Given the description of an element on the screen output the (x, y) to click on. 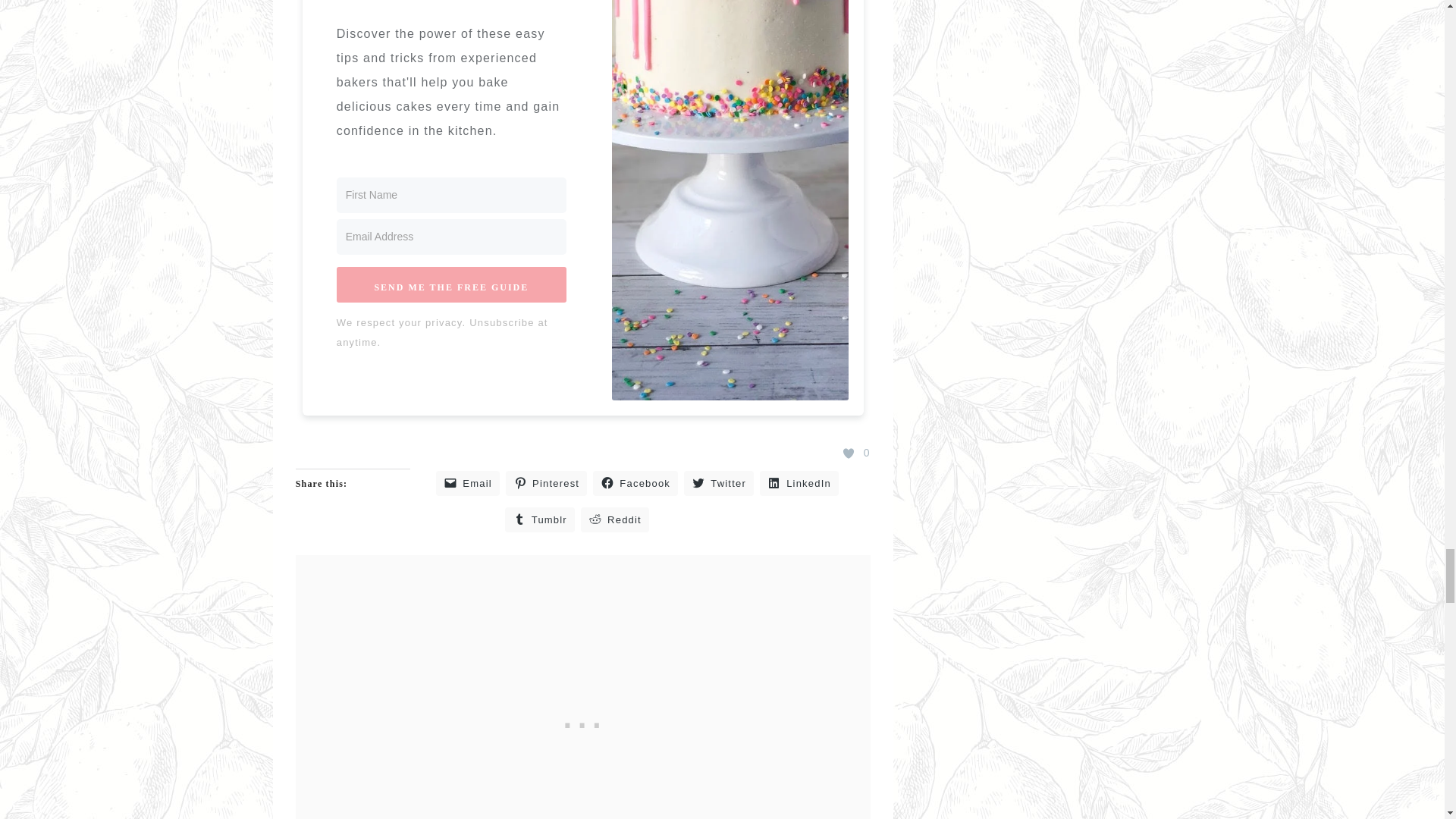
Click to email a link to a friend (467, 483)
Click to share on Reddit (614, 519)
Click to share on Facebook (635, 483)
Click to share on LinkedIn (799, 483)
Click to share on Pinterest (545, 483)
Click to share on Twitter (719, 483)
Click to share on Tumblr (540, 519)
